Given the description of an element on the screen output the (x, y) to click on. 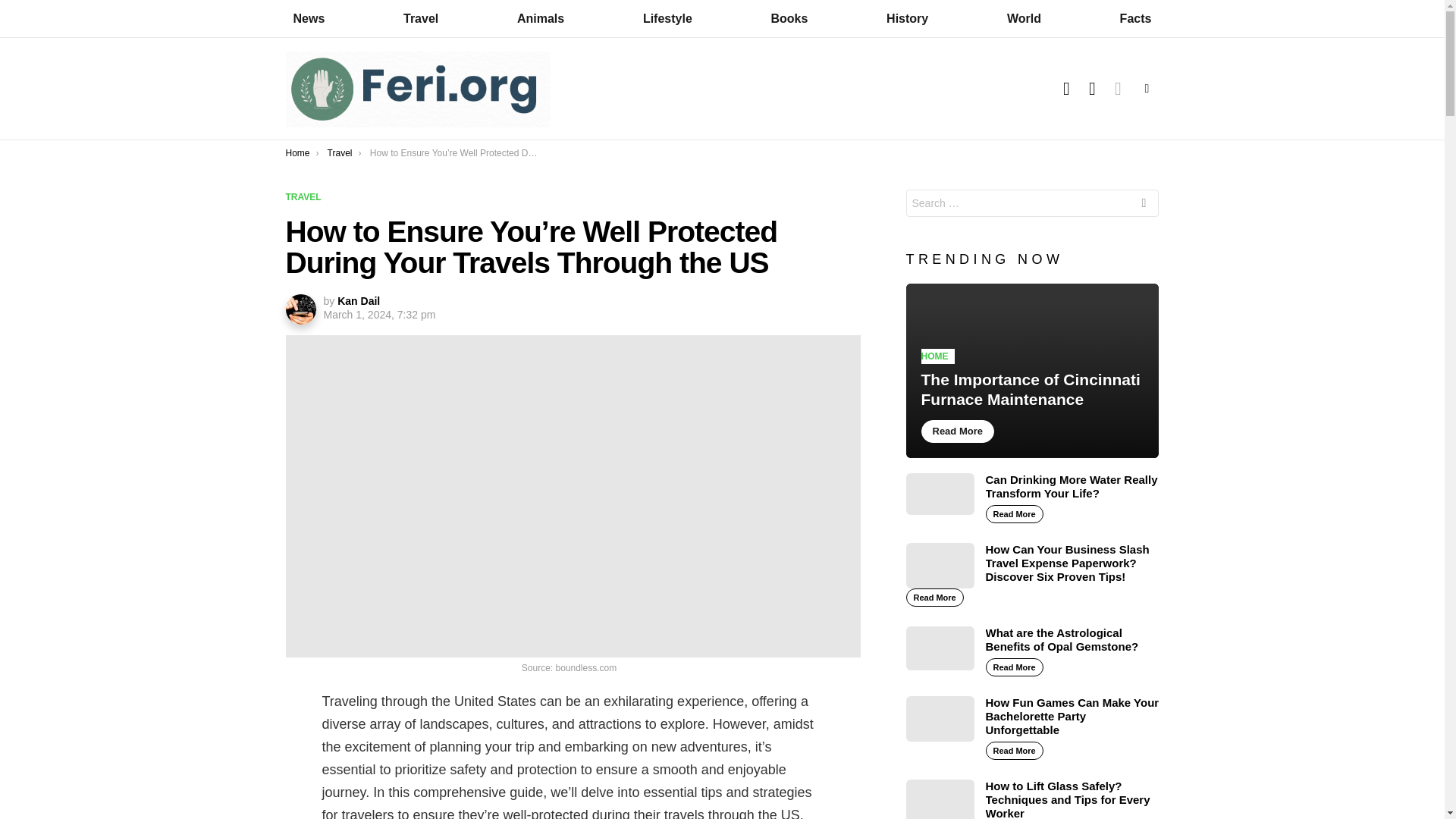
Kan Dail (358, 300)
Menu (1146, 88)
World (1023, 18)
Posts by Kan Dail (358, 300)
The Importance of Cincinnati Furnace Maintenance (1031, 370)
Facts (1135, 18)
Travel (420, 18)
Home (296, 153)
Search for: (1031, 203)
Animals (540, 18)
News (308, 18)
Travel (339, 153)
Lifestyle (667, 18)
History (907, 18)
Books (788, 18)
